Given the description of an element on the screen output the (x, y) to click on. 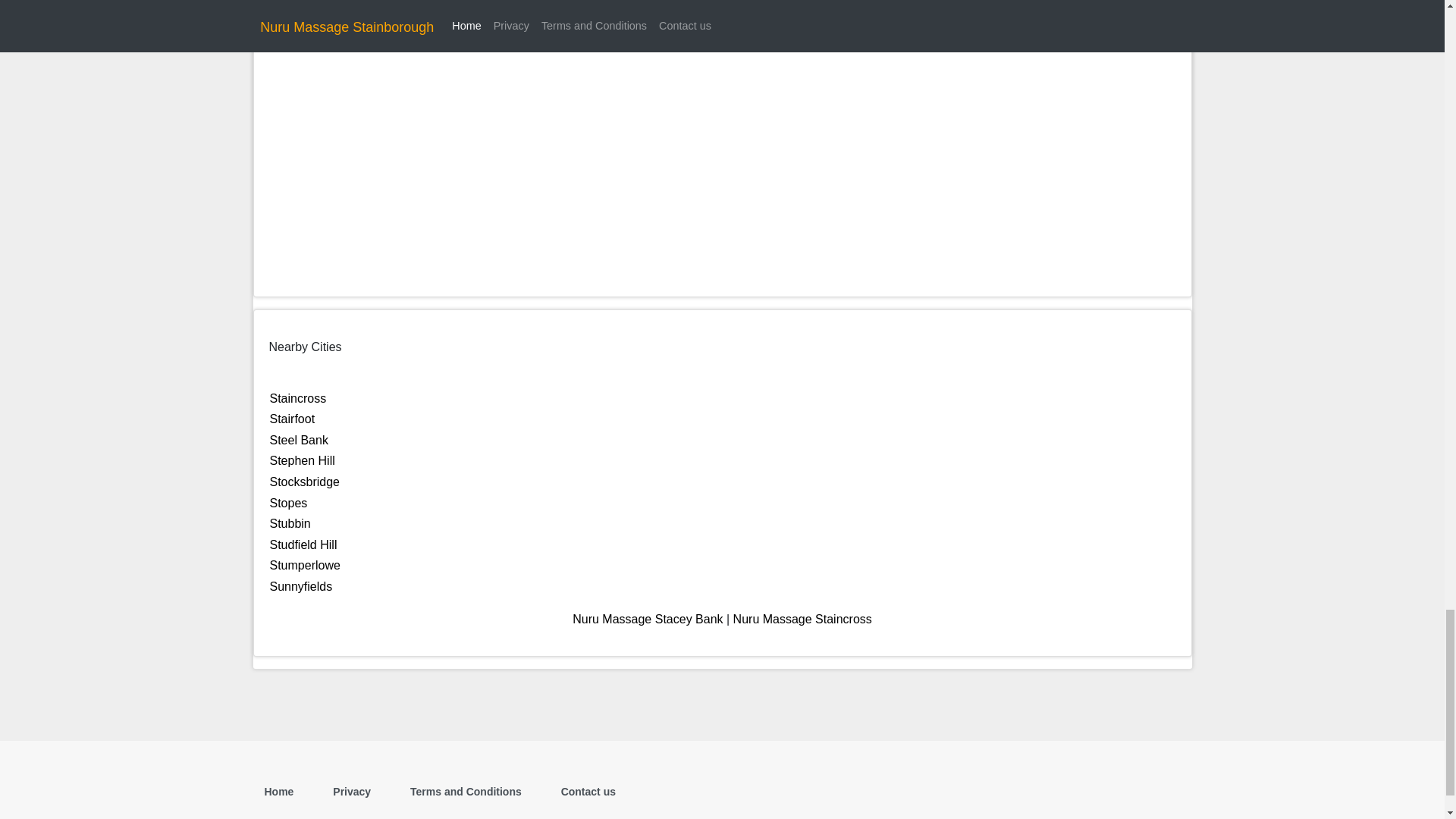
Stephen Hill (301, 460)
Steel Bank (299, 440)
Stubbin (290, 522)
Sunnyfields (301, 585)
Stairfoot (292, 418)
Studfield Hill (303, 544)
Stopes (288, 502)
Stocksbridge (304, 481)
Nuru Massage Stacey Bank (647, 618)
Stumperlowe (304, 564)
Staincross (297, 398)
Nuru Massage Staincross (802, 618)
